Given the description of an element on the screen output the (x, y) to click on. 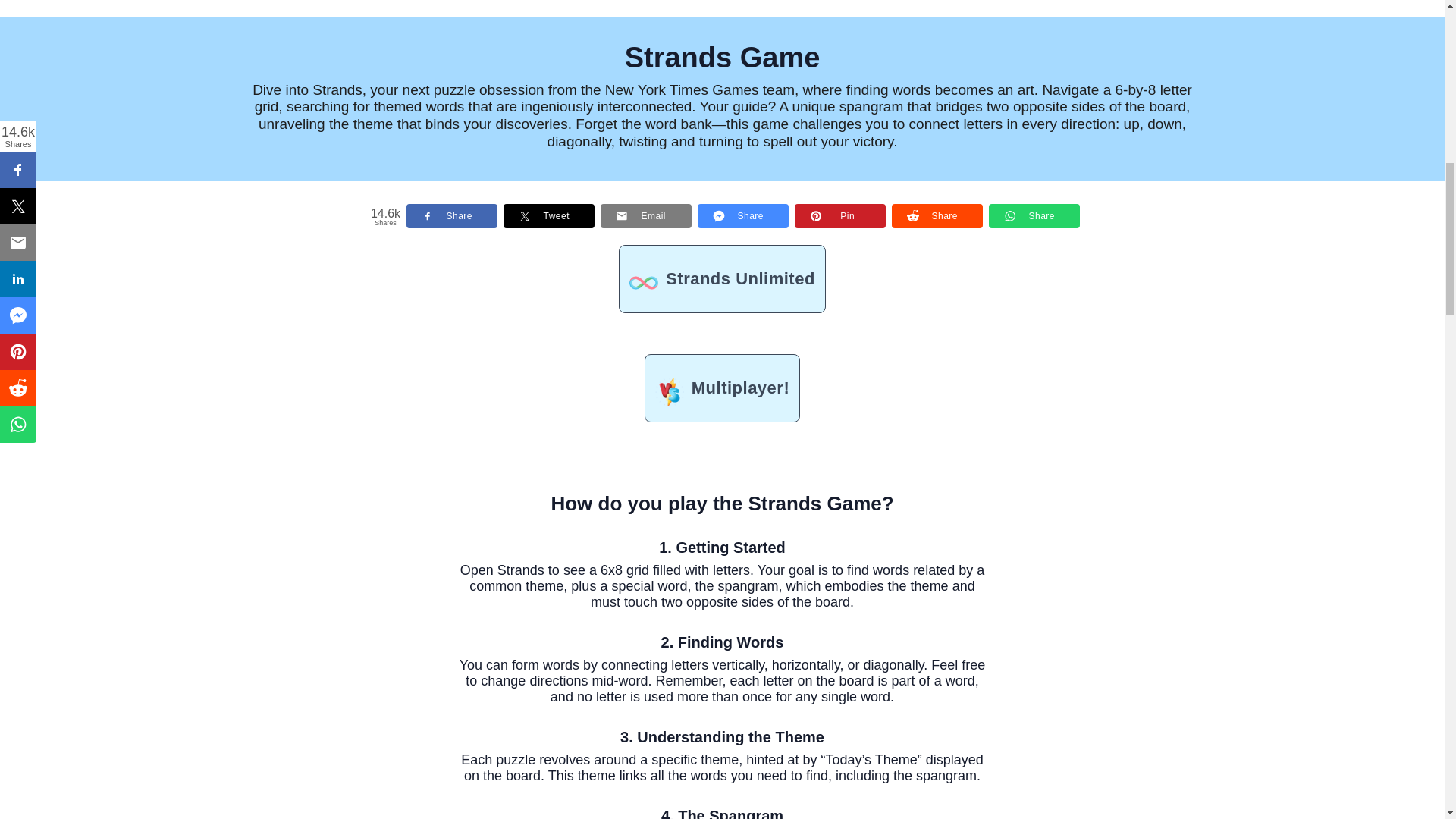
Multiplayer! (722, 387)
Strands Unlimited (721, 278)
